Given the description of an element on the screen output the (x, y) to click on. 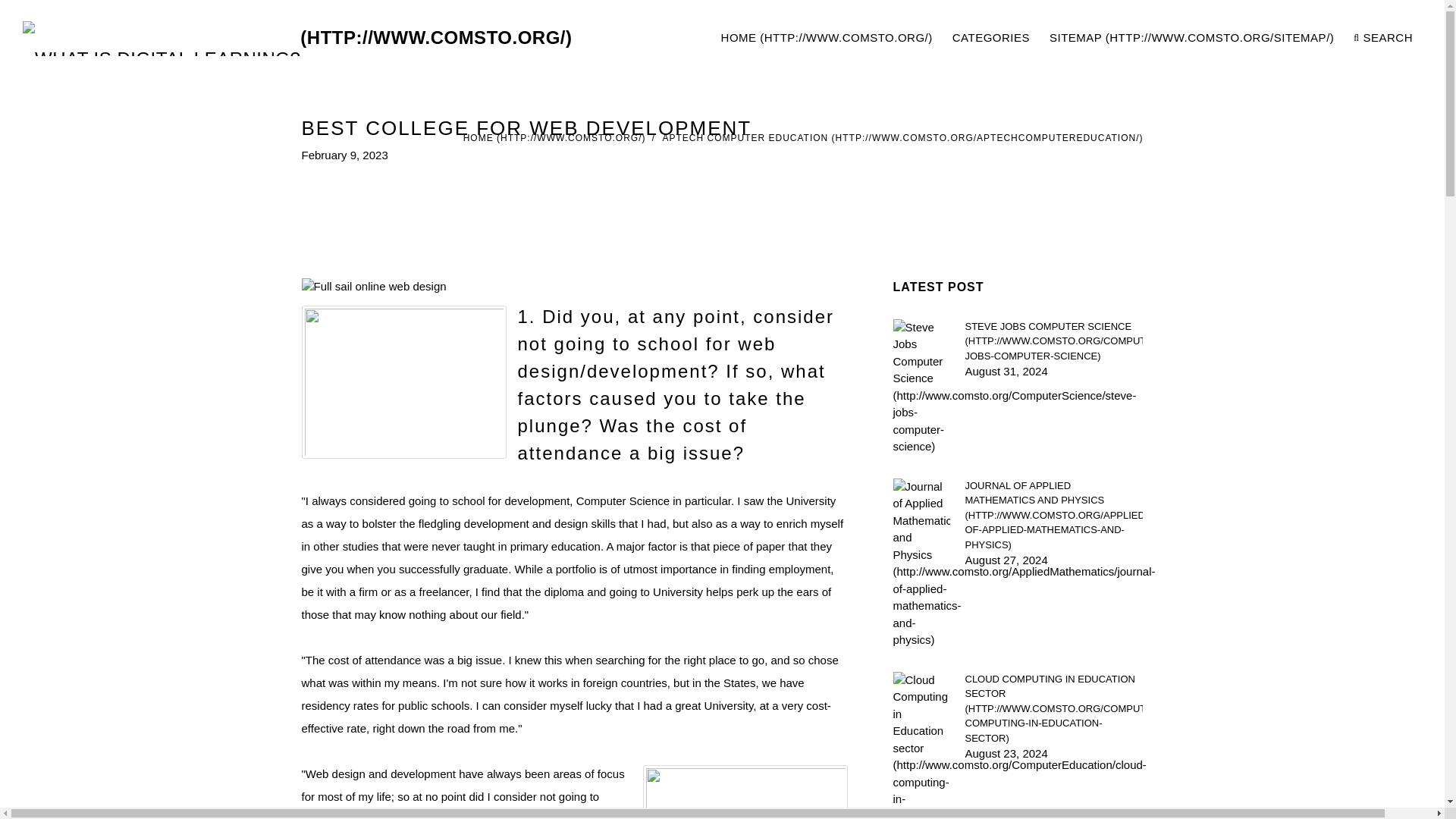
SEARCH (1382, 38)
APTECH COMPUTER EDUCATION (902, 137)
What is Digital Learning? (297, 38)
CLOUD COMPUTING IN EDUCATION SECTOR (1052, 708)
HOME (554, 137)
HOME (826, 38)
STEVE JOBS COMPUTER SCIENCE (1052, 340)
SITEMAP (1191, 38)
JOURNAL OF APPLIED MATHEMATICS AND PHYSICS (1052, 514)
CATEGORIES (991, 38)
